Given the description of an element on the screen output the (x, y) to click on. 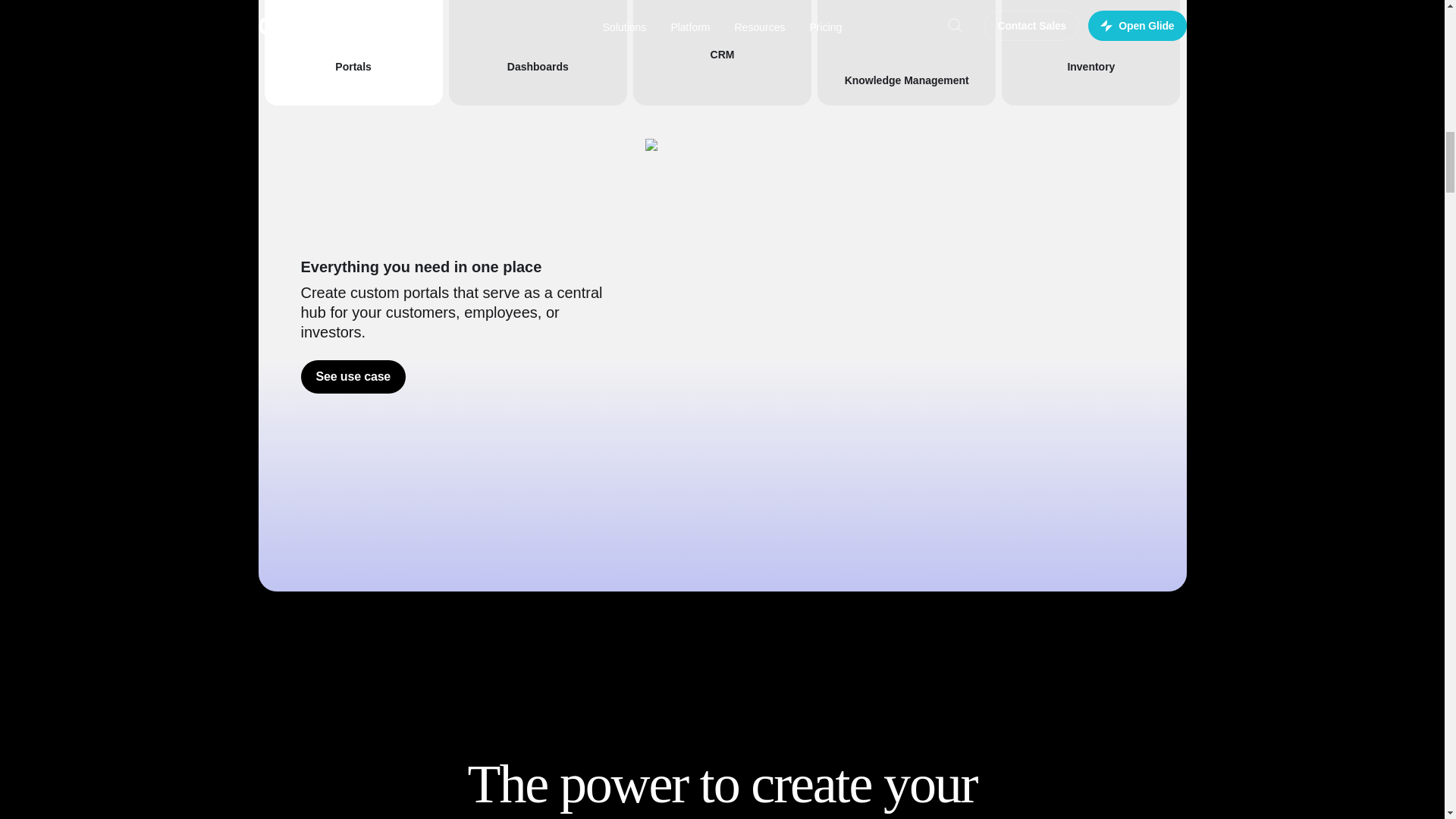
Portals (352, 52)
CRM (721, 52)
See use case (352, 376)
Knowledge Management (905, 52)
Dashboards (537, 52)
Inventory (1090, 52)
